Given the description of an element on the screen output the (x, y) to click on. 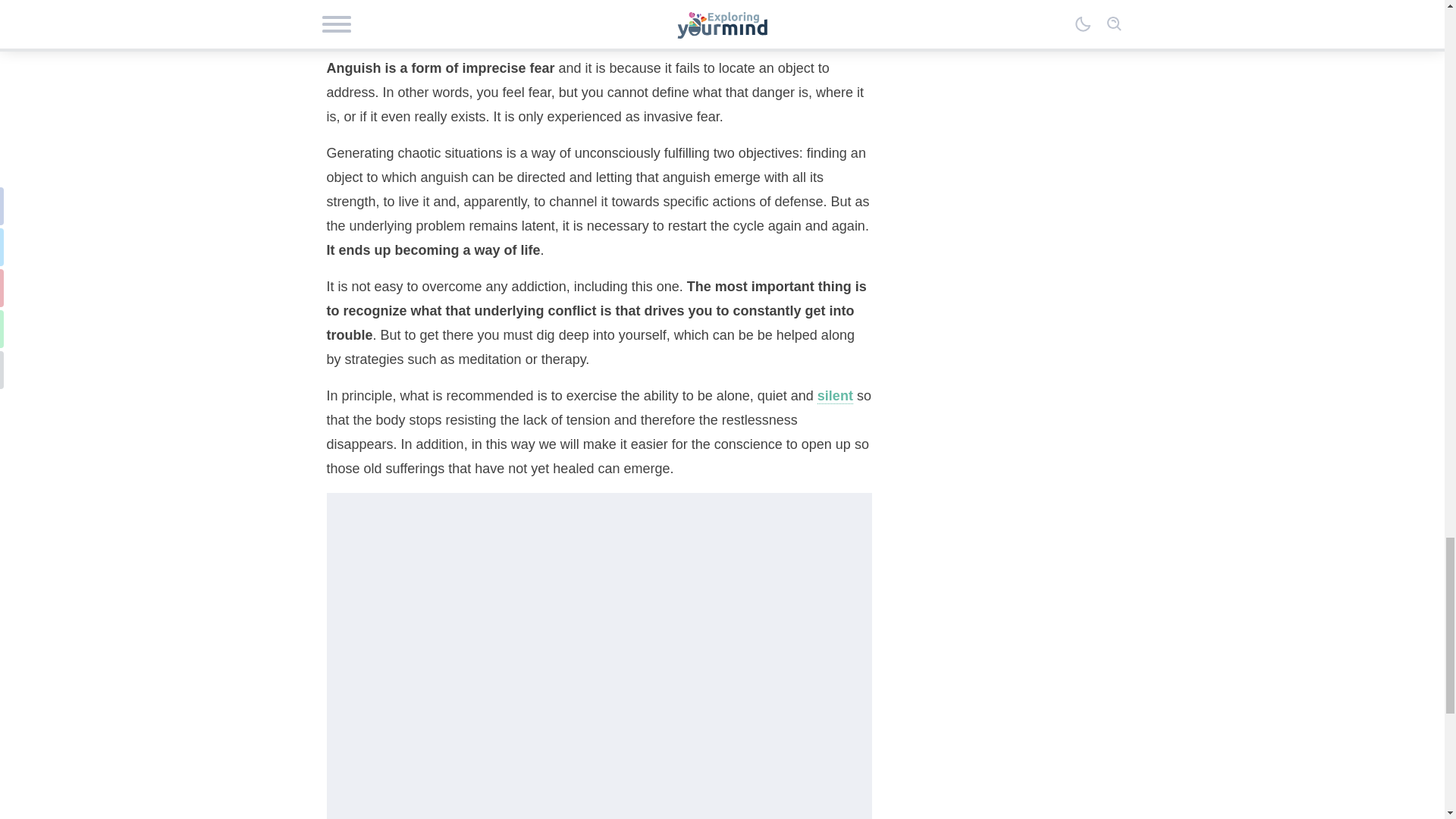
silent (834, 396)
